Given the description of an element on the screen output the (x, y) to click on. 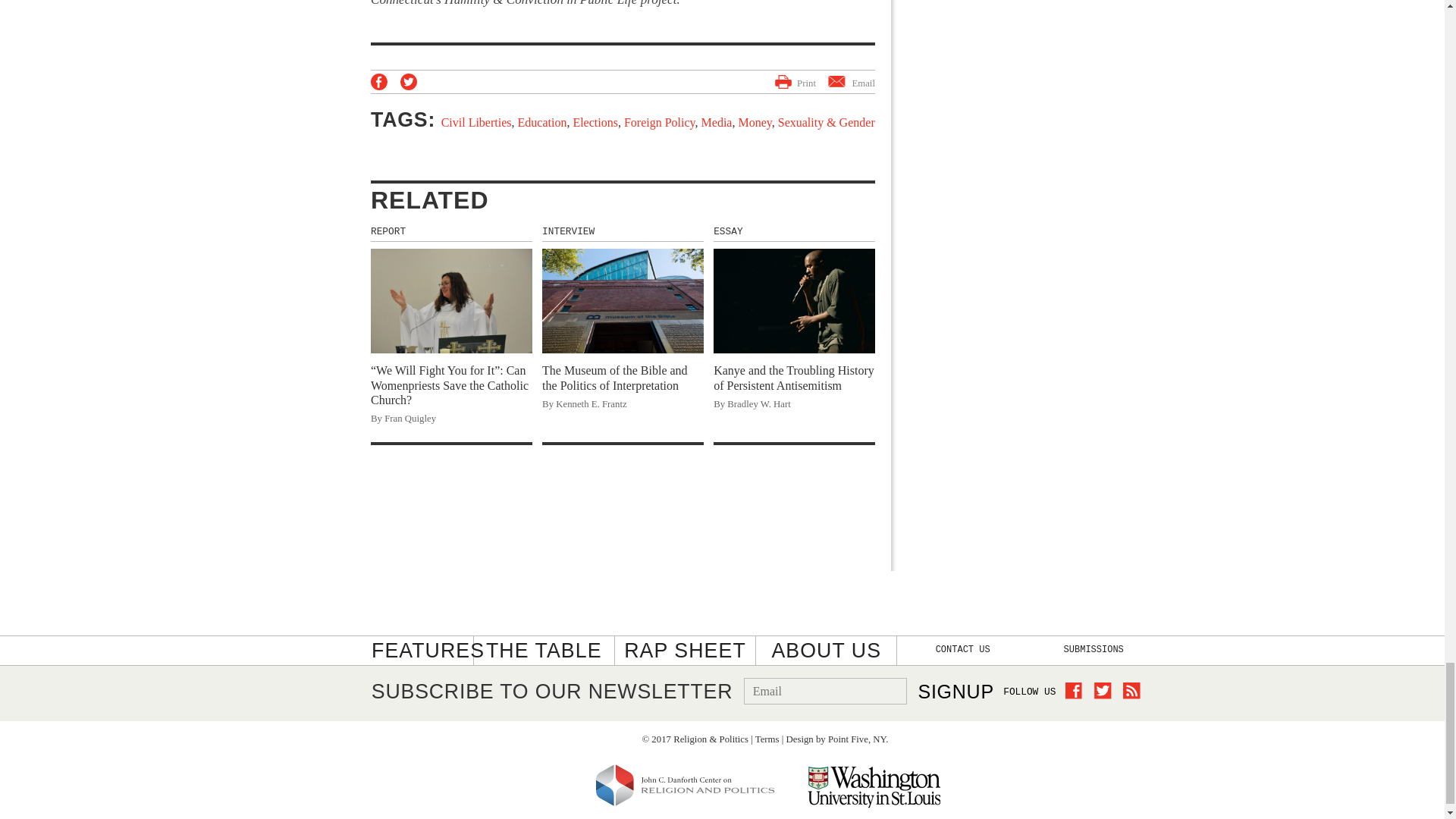
Signup (954, 691)
